Given the description of an element on the screen output the (x, y) to click on. 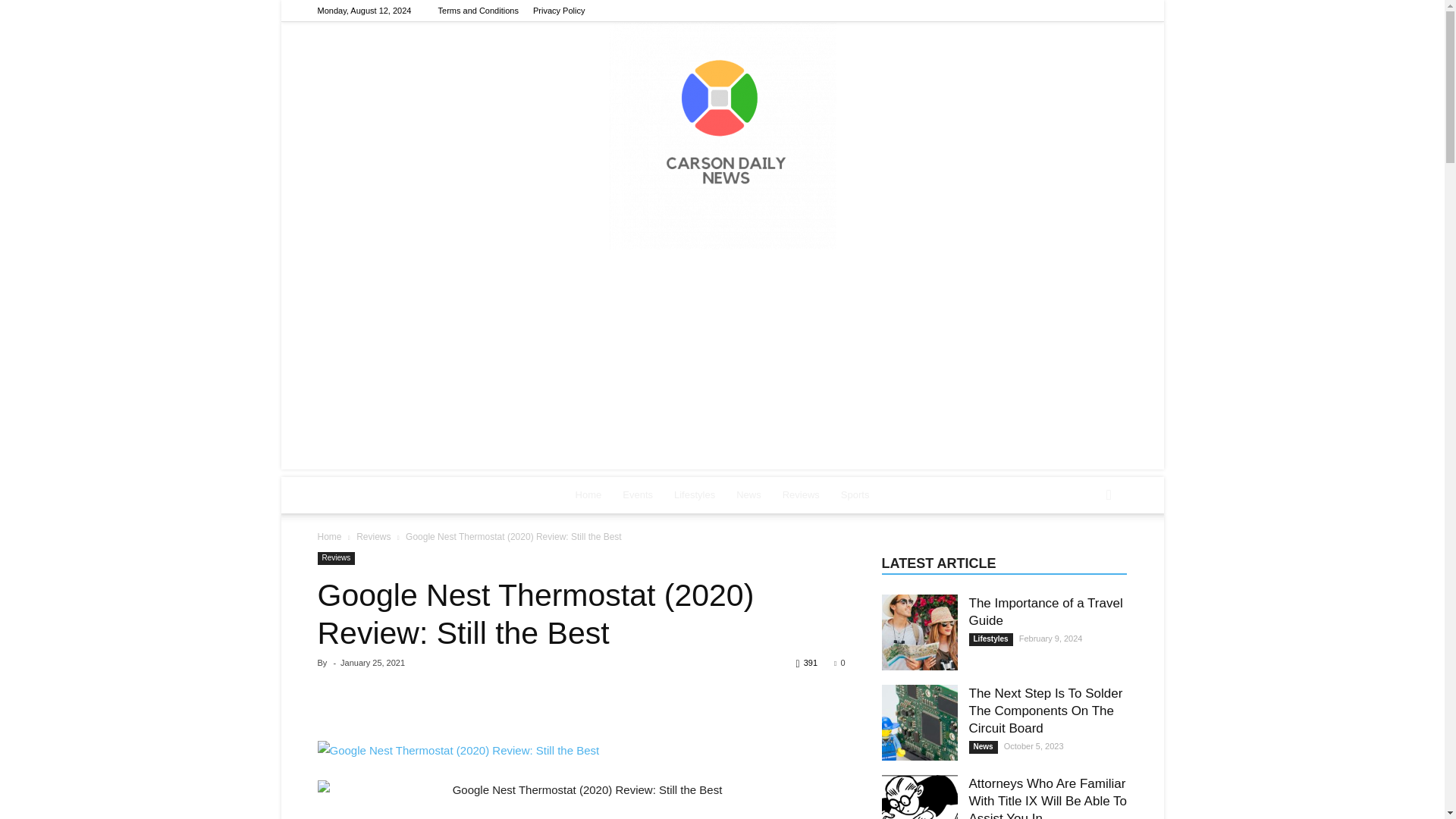
Reviews (800, 494)
Reviews (373, 536)
Sports (854, 494)
0 (839, 662)
Privacy Policy (558, 10)
Events (637, 494)
Lifestyles (694, 494)
Home (328, 536)
